Given the description of an element on the screen output the (x, y) to click on. 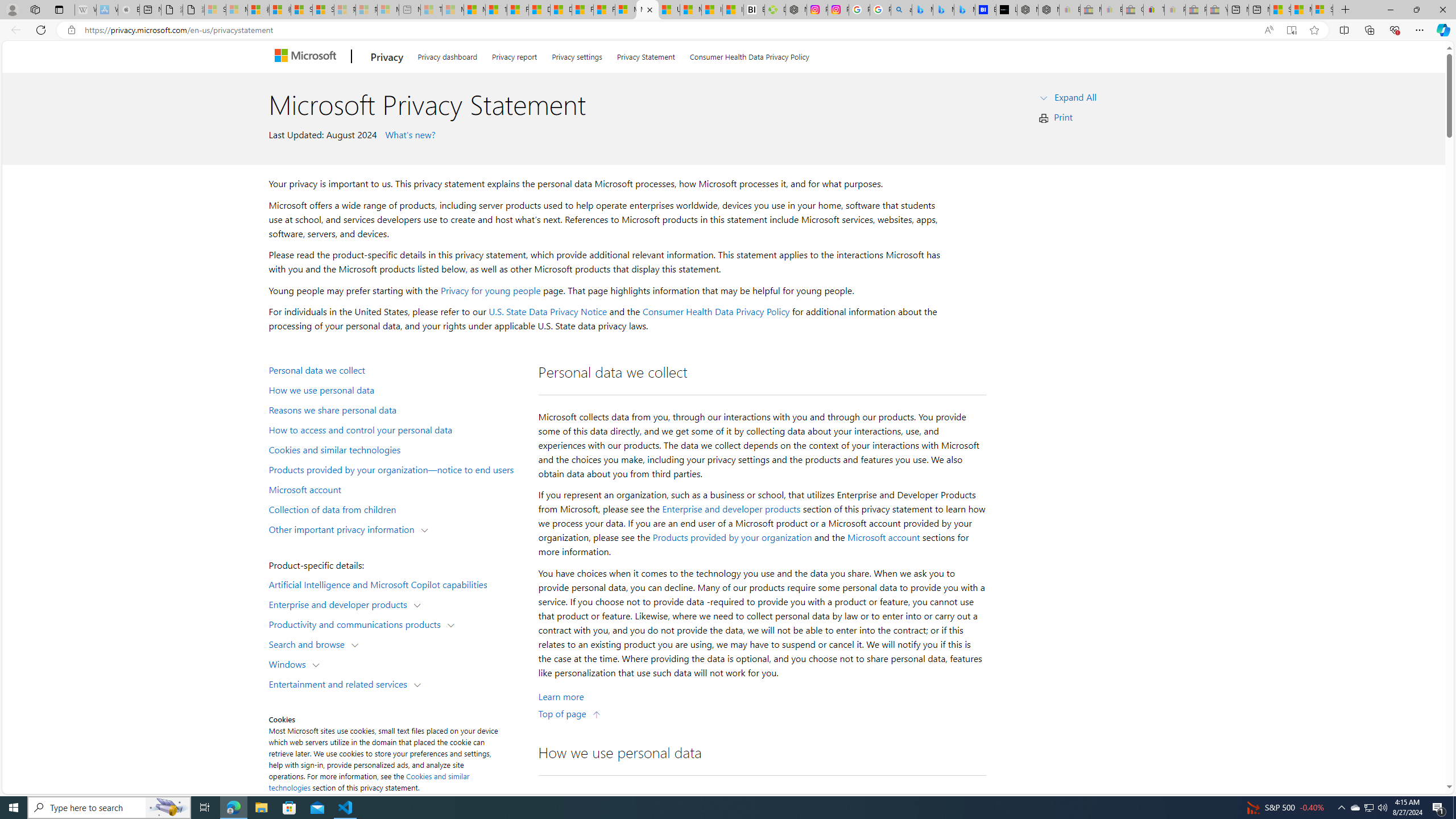
US Heat Deaths Soared To Record High Last Year (668, 9)
How we use personal data (395, 389)
Cookies and similar technologies (368, 780)
Windows (289, 663)
Threats and offensive language policy | eBay (1153, 9)
Yard, Garden & Outdoor Living - Sleeping (1216, 9)
Microsoft Bing Travel - Shangri-La Hotel Bangkok (964, 9)
Enterprise and developer products (340, 603)
Privacy Statement (645, 54)
Expand All (1075, 96)
